Given the description of an element on the screen output the (x, y) to click on. 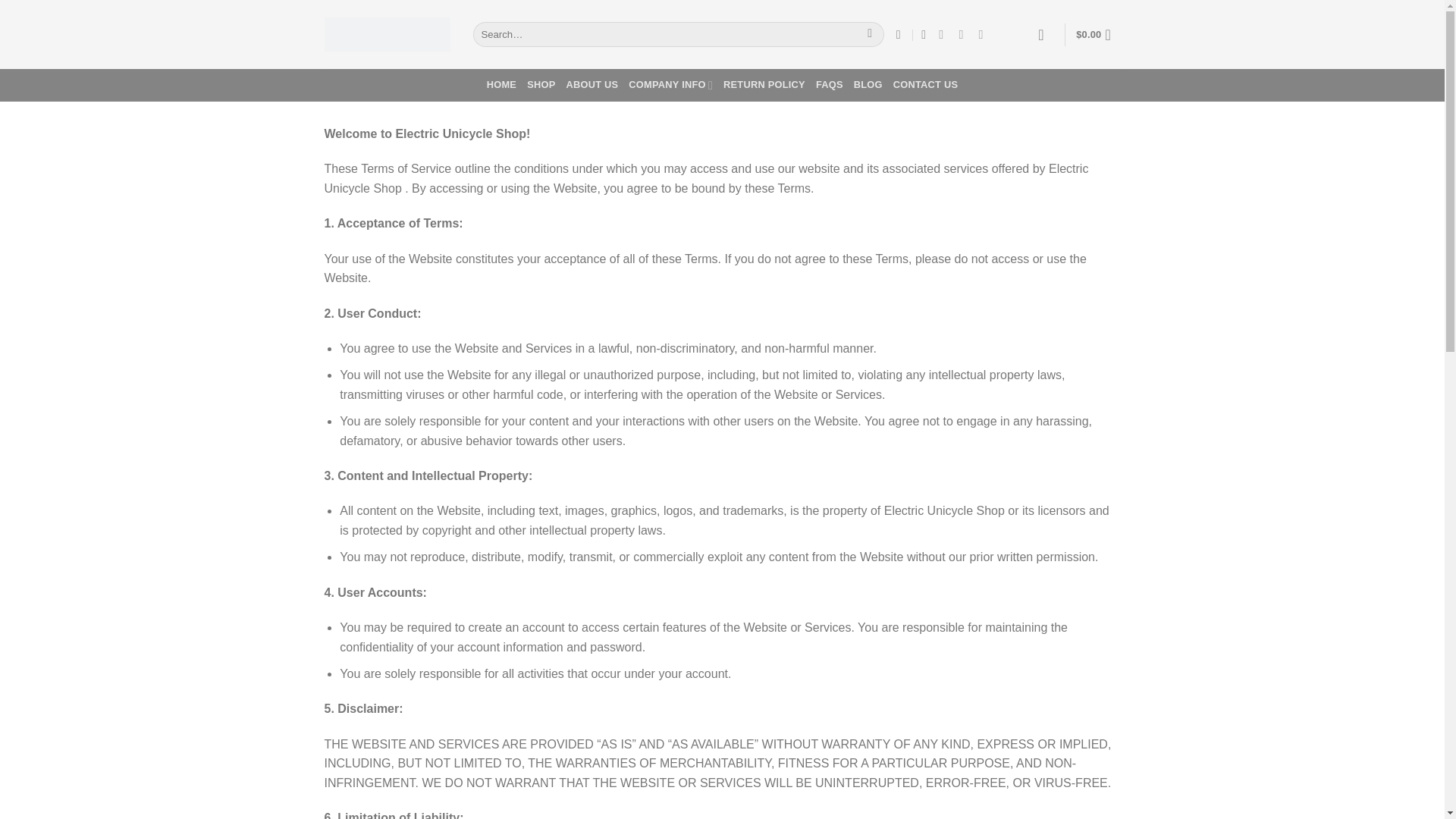
CONTACT US (925, 84)
Cart (1097, 34)
BLOG (867, 84)
FAQS (829, 84)
Search (869, 34)
COMPANY INFO (670, 84)
SHOP (540, 84)
Follow on TikTok (964, 33)
RETURN POLICY (764, 84)
ABOUT US (591, 84)
